Given the description of an element on the screen output the (x, y) to click on. 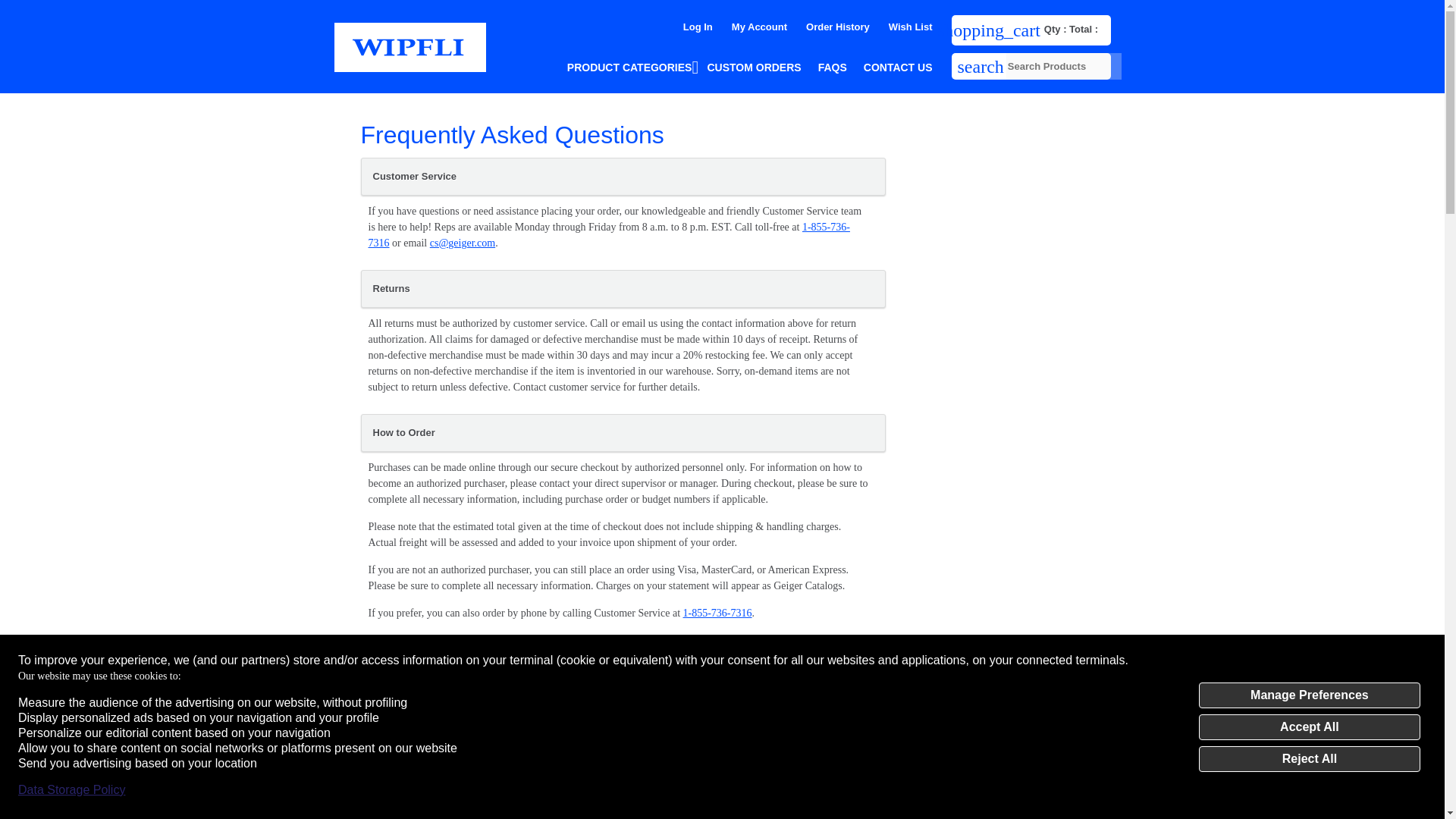
Manage Preferences (1309, 695)
Wish List (910, 26)
Accept All (1309, 727)
Log In (697, 26)
Order History (837, 26)
CUSTOM ORDERS (753, 67)
1-855-736-7316 (609, 234)
Data Storage Policy (71, 789)
My Account (759, 26)
CONTACT US (898, 67)
Reject All (1309, 759)
FAQS (832, 67)
PRODUCT CATEGORIES (629, 67)
